Given the description of an element on the screen output the (x, y) to click on. 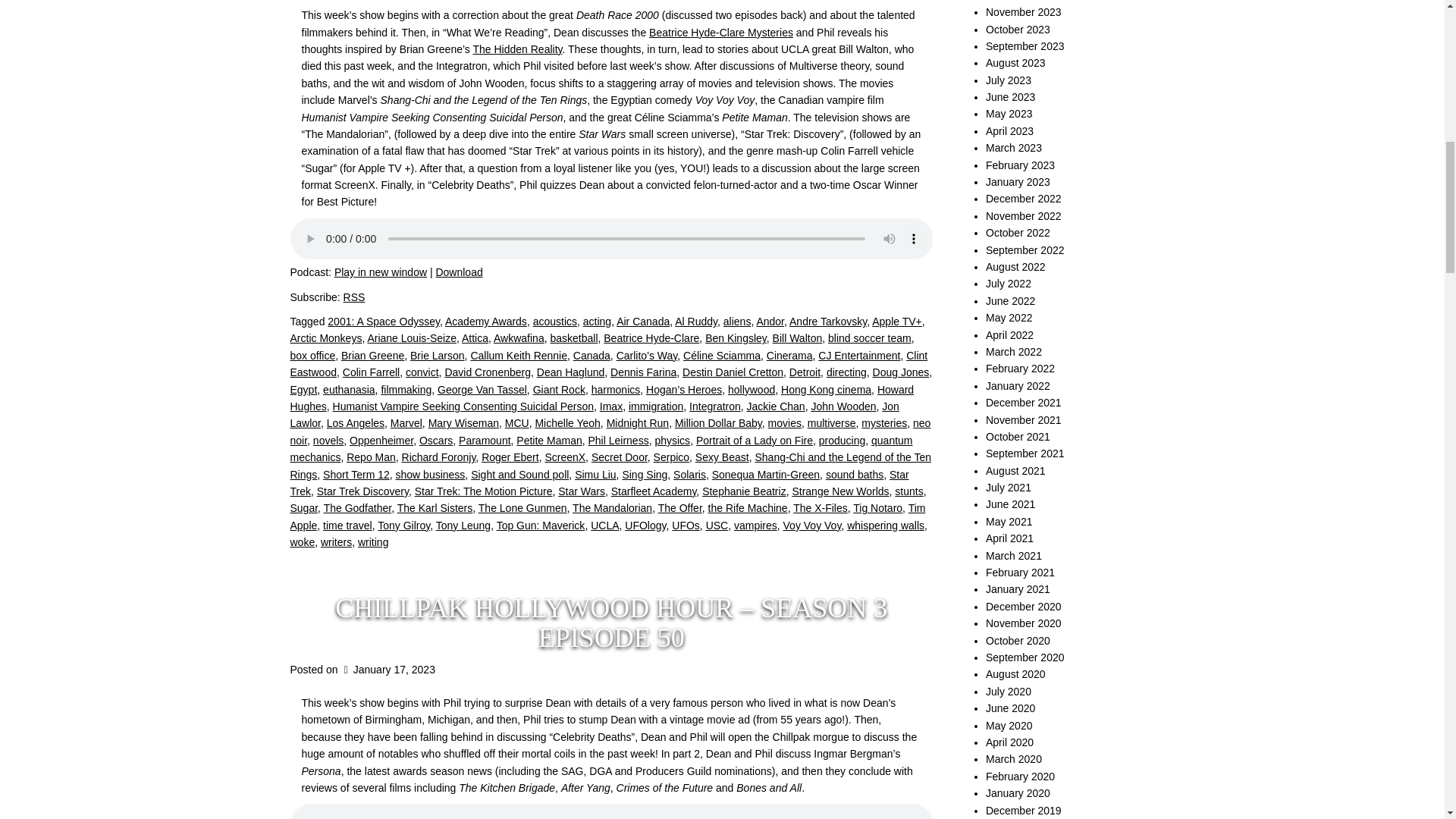
Subscribe via RSS (354, 297)
Ariane Louis-Seize (411, 337)
Download (458, 272)
aliens (737, 321)
box office (311, 355)
Download (458, 272)
acting (597, 321)
Beatrice Hyde-Clare (651, 337)
Awkwafina (518, 337)
Al Ruddy (696, 321)
RSS (354, 297)
Andor (769, 321)
blind soccer team (869, 337)
Arctic Monkeys (325, 337)
Brie Larson (437, 355)
